Given the description of an element on the screen output the (x, y) to click on. 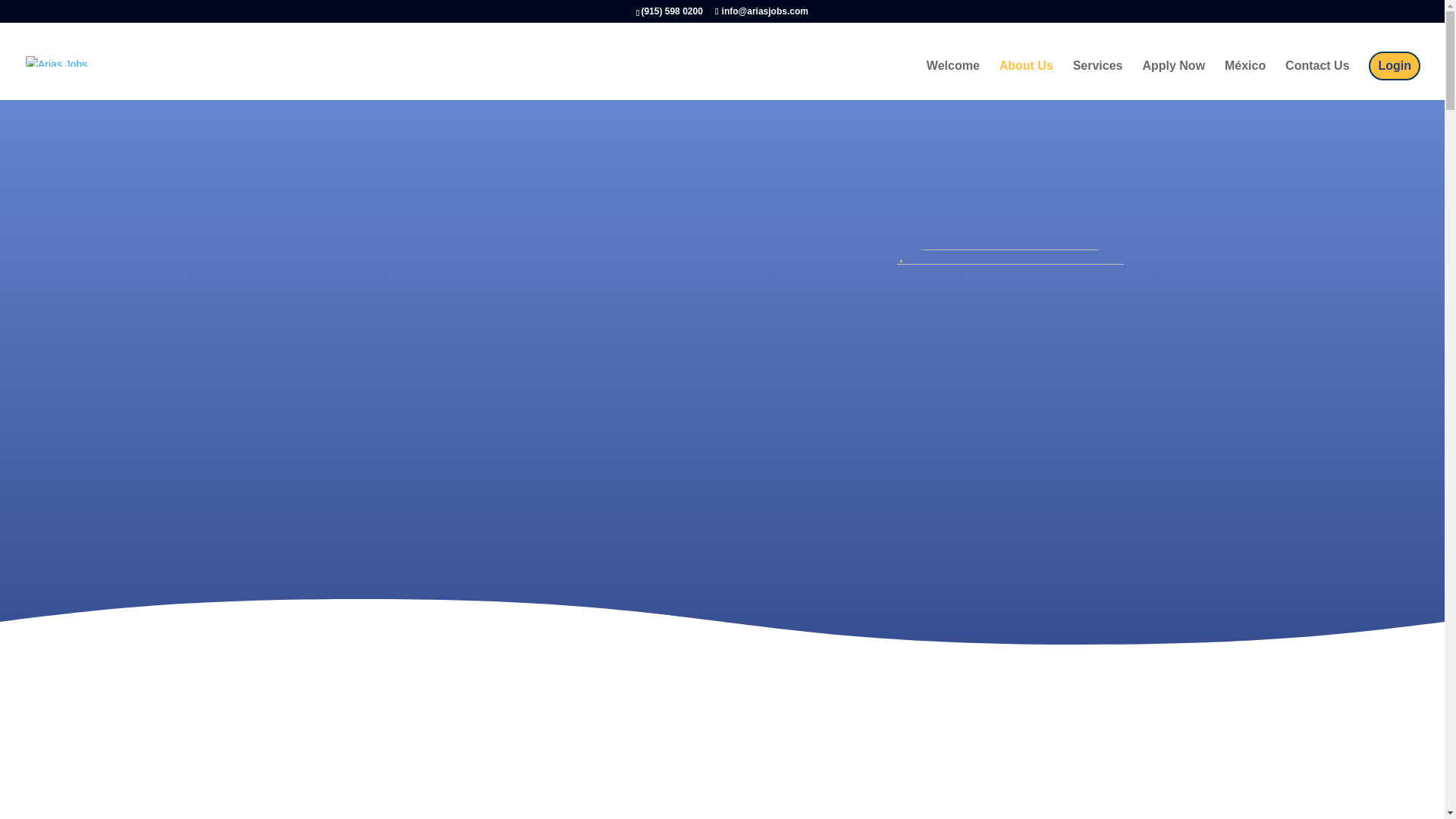
About Us (1025, 79)
Login (1394, 65)
Apply Now (1173, 79)
Contact Us (1317, 79)
Manos (1009, 340)
Services (1097, 79)
Welcome (952, 79)
